Given the description of an element on the screen output the (x, y) to click on. 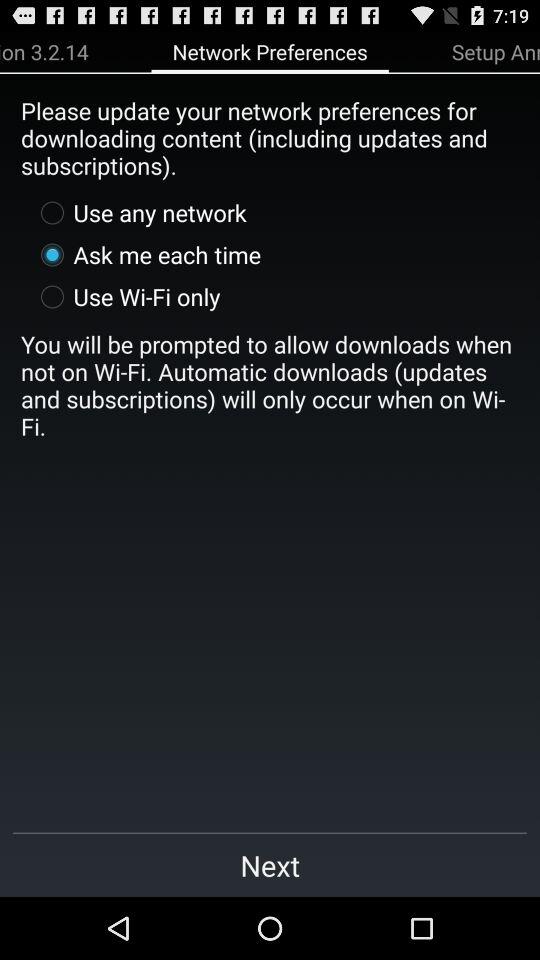
flip to the next button (270, 864)
